Given the description of an element on the screen output the (x, y) to click on. 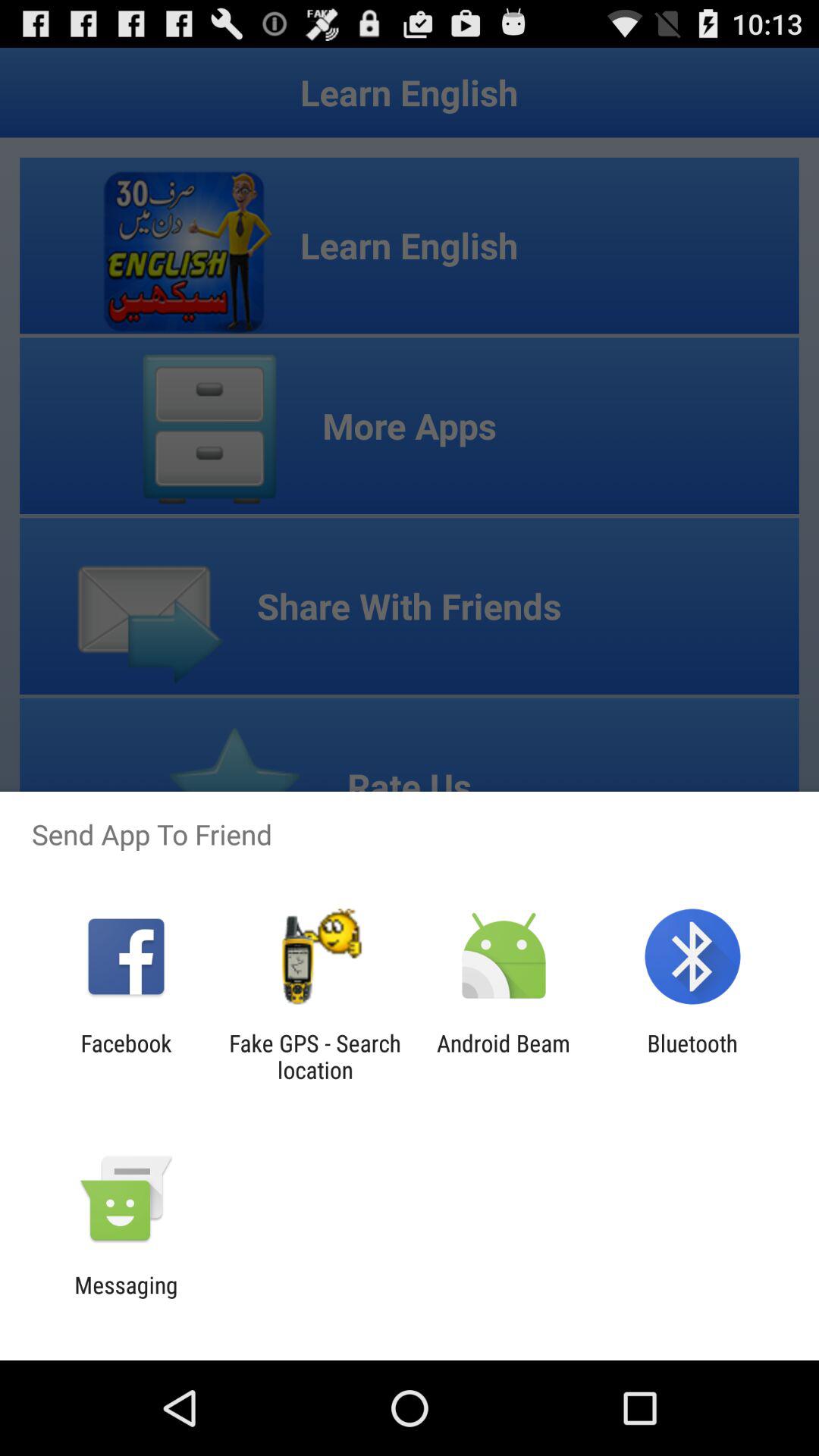
open icon to the left of the android beam app (314, 1056)
